Given the description of an element on the screen output the (x, y) to click on. 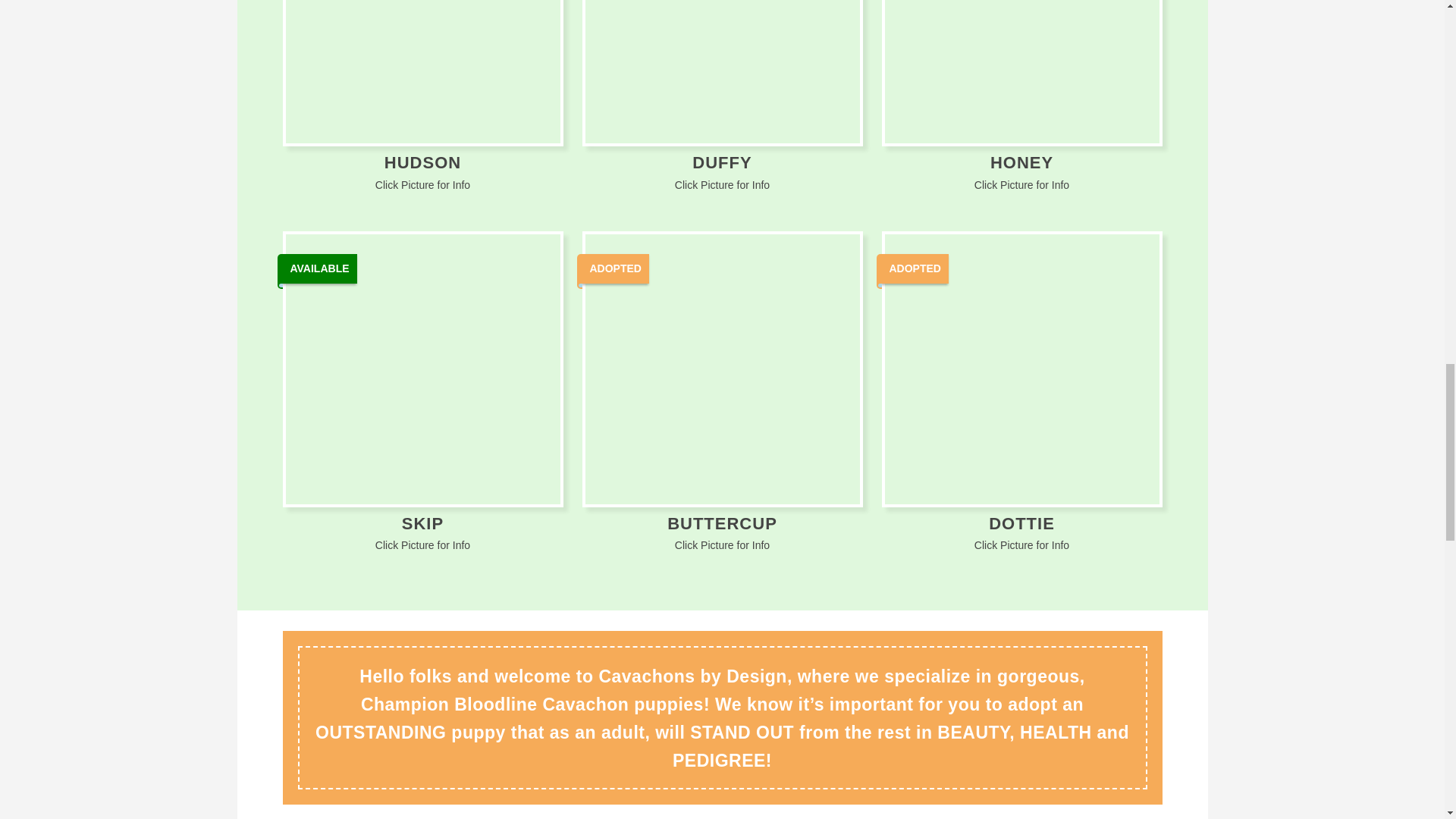
Meadow (1020, 71)
Meadow (422, 71)
Meadow (422, 369)
Meadow (1020, 369)
Meadow (722, 369)
Meadow (722, 71)
